Given the description of an element on the screen output the (x, y) to click on. 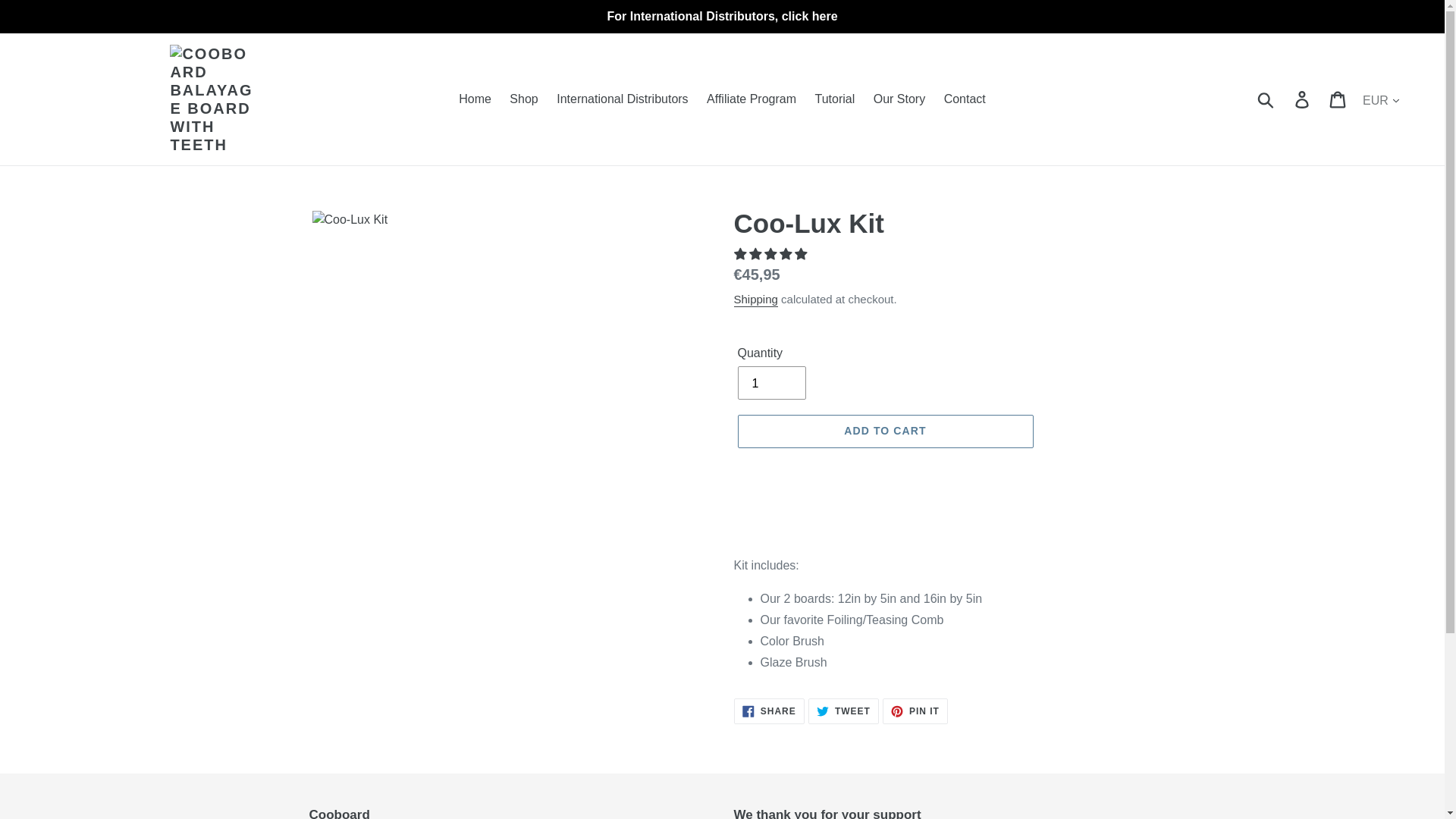
Home (475, 98)
International Distributors (621, 98)
Our Story (899, 98)
Shipping (755, 299)
Shop (523, 98)
Submit (843, 710)
1 (1266, 99)
Log in (770, 382)
Tutorial (1302, 99)
